Given the description of an element on the screen output the (x, y) to click on. 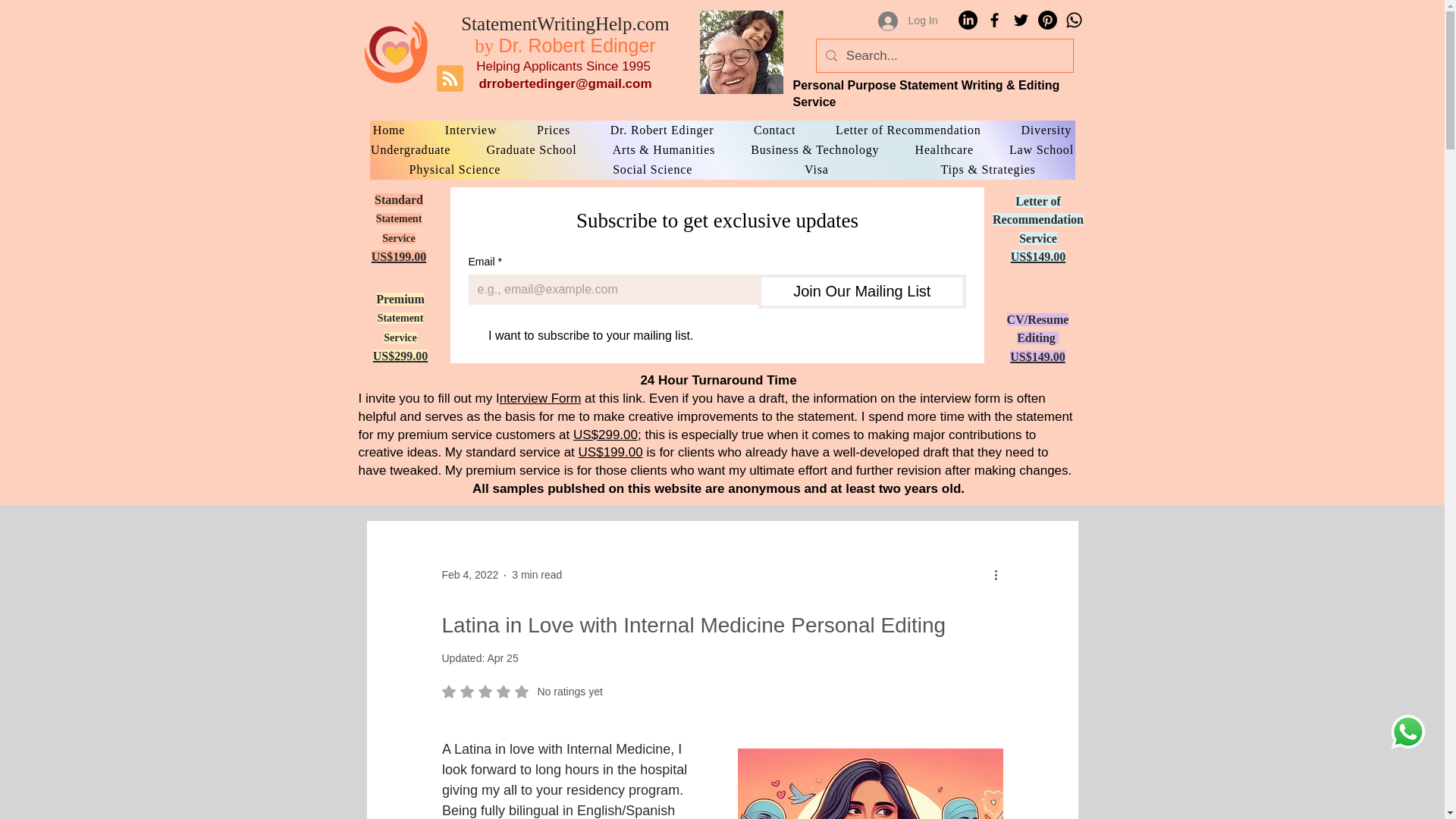
Letter of Recommendation (908, 130)
Contact (775, 130)
Apr 25 (502, 657)
Personal Statement of Purpose Writing and Editng Sevice (395, 50)
Helping Applicants Since 1995 (565, 34)
Interview (563, 65)
Dr. Robert Edinger (471, 130)
Graduate School (661, 130)
Home (531, 149)
